Given the description of an element on the screen output the (x, y) to click on. 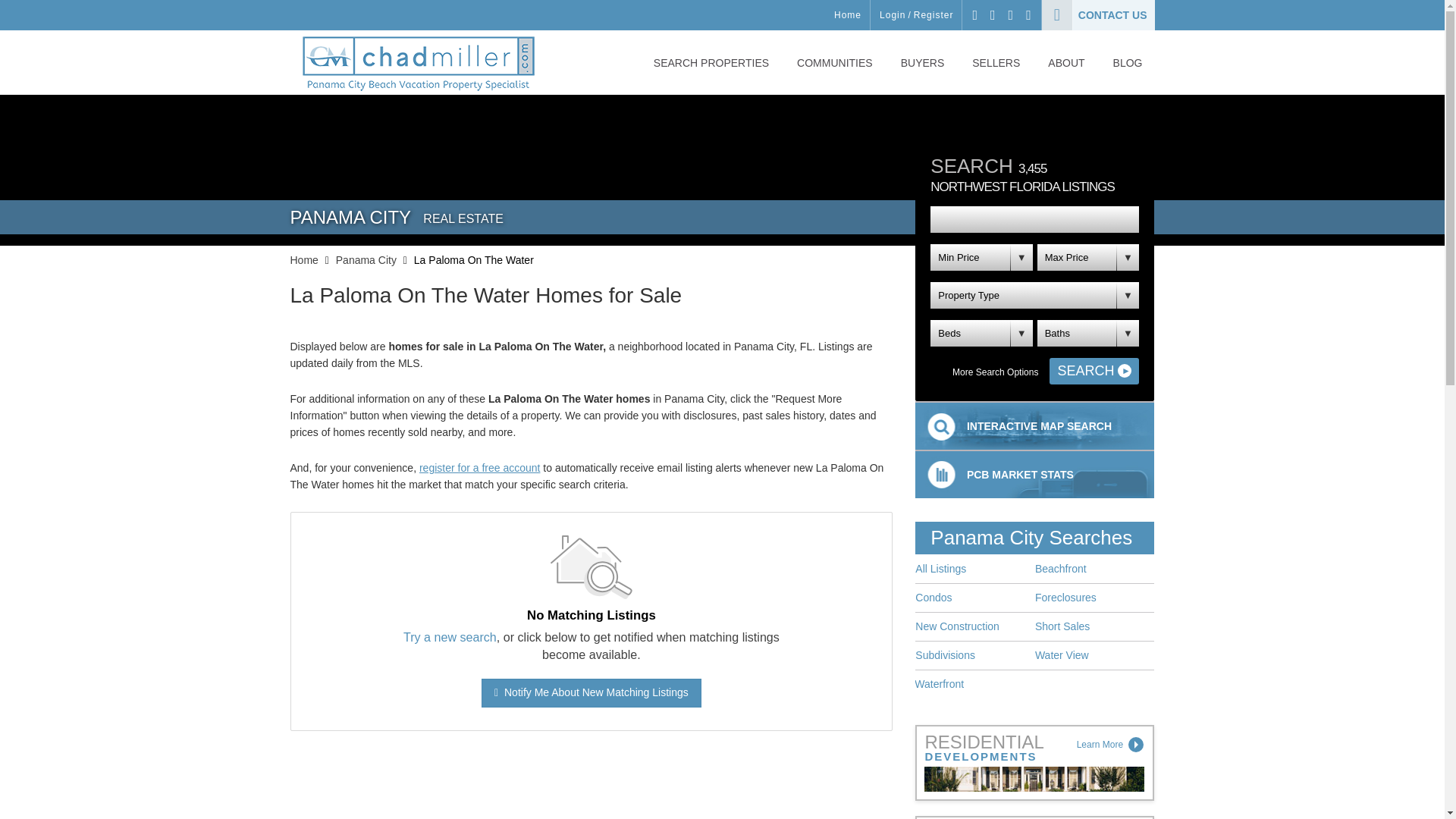
BUYERS (922, 71)
COMMUNITIES (834, 71)
CONTACT US (1098, 15)
Home (847, 14)
SEARCH PROPERTIES (711, 71)
Register (933, 14)
